Given the description of an element on the screen output the (x, y) to click on. 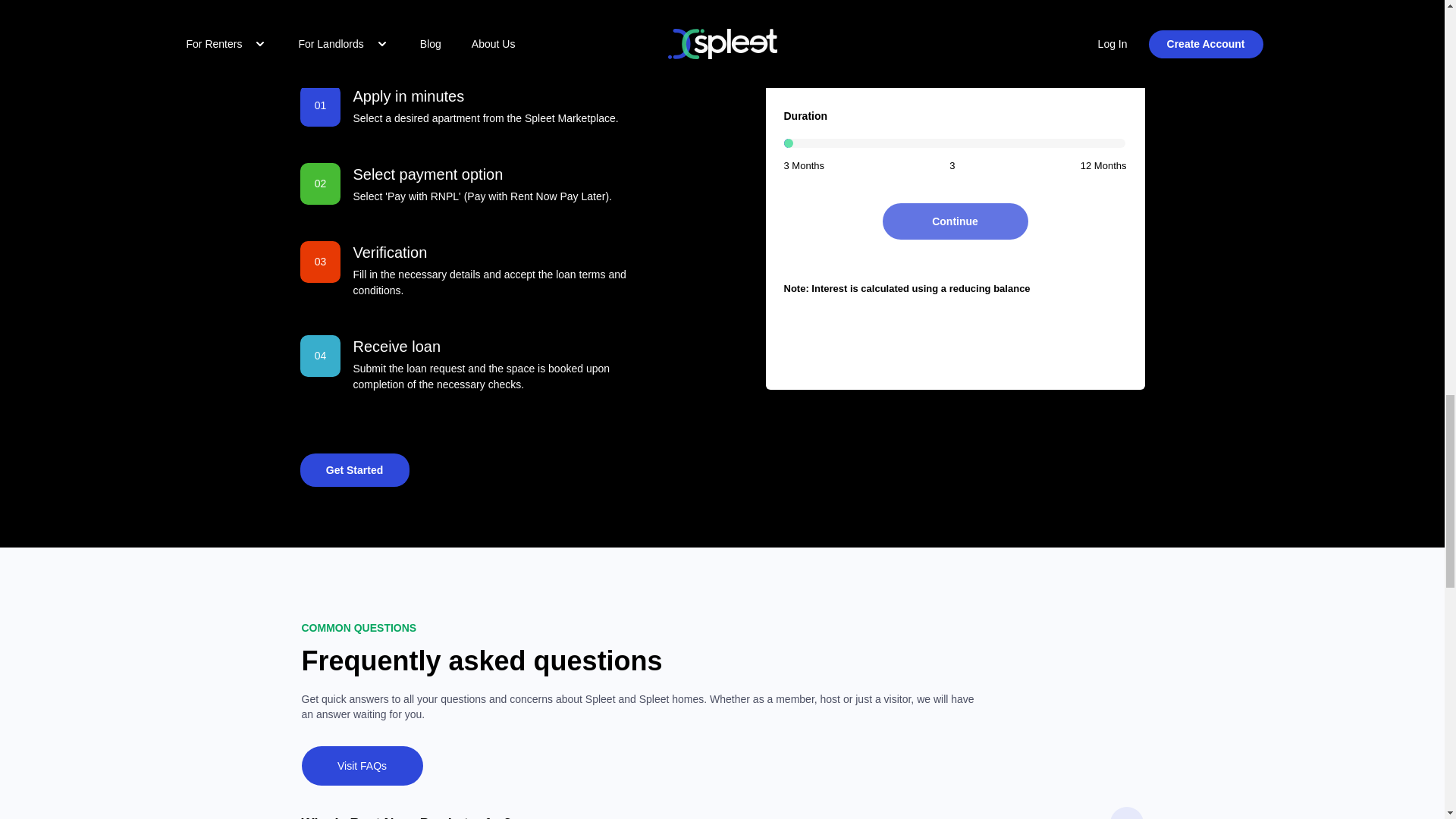
Continue (954, 221)
Get Started (354, 469)
Who Is Rent Now, Pay Later for? (721, 812)
3 (954, 143)
Visit FAQs (362, 765)
